Given the description of an element on the screen output the (x, y) to click on. 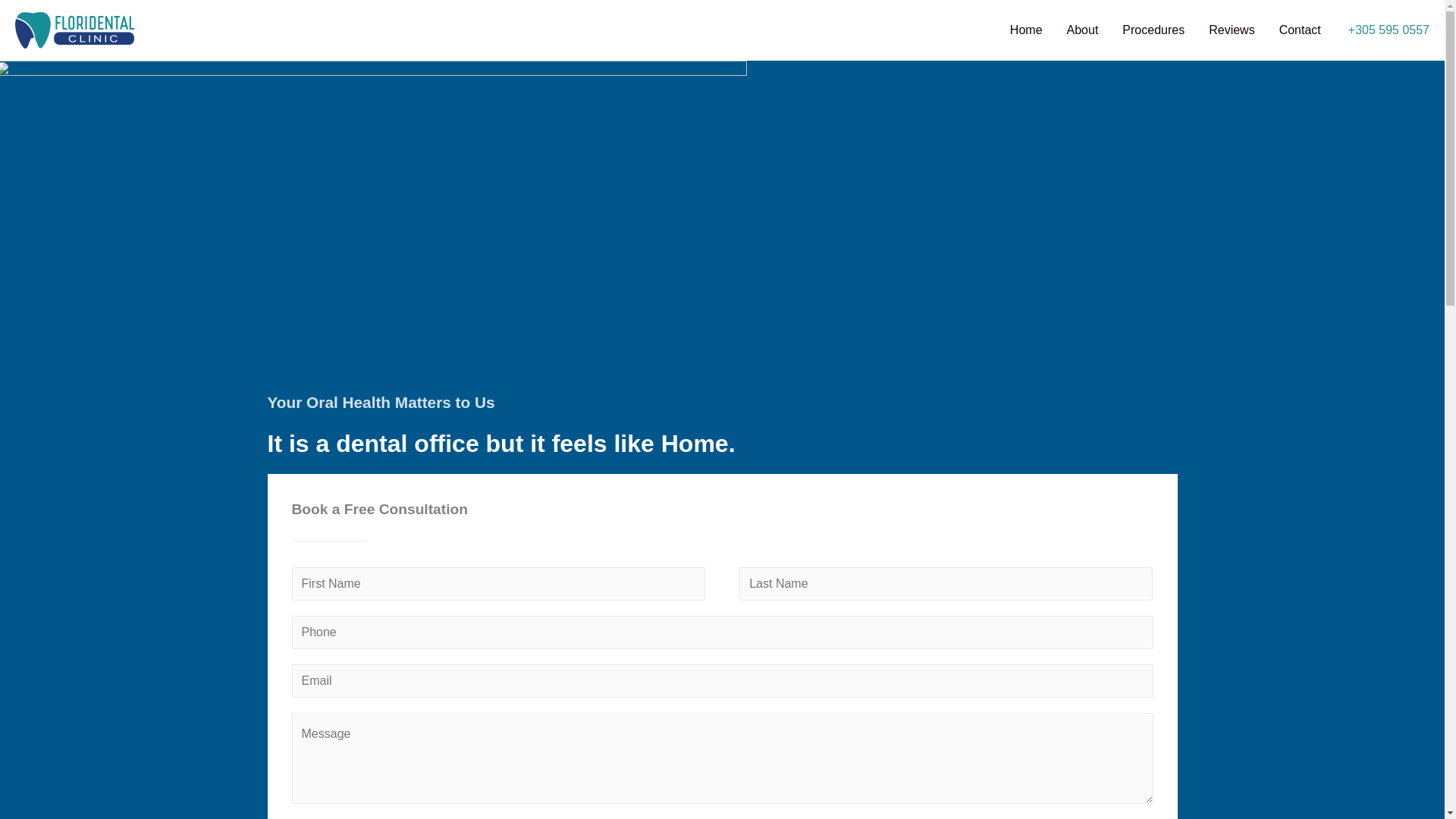
Contact (1299, 30)
Home (1025, 30)
Procedures (1152, 30)
About (1082, 30)
Reviews (1231, 30)
